Given the description of an element on the screen output the (x, y) to click on. 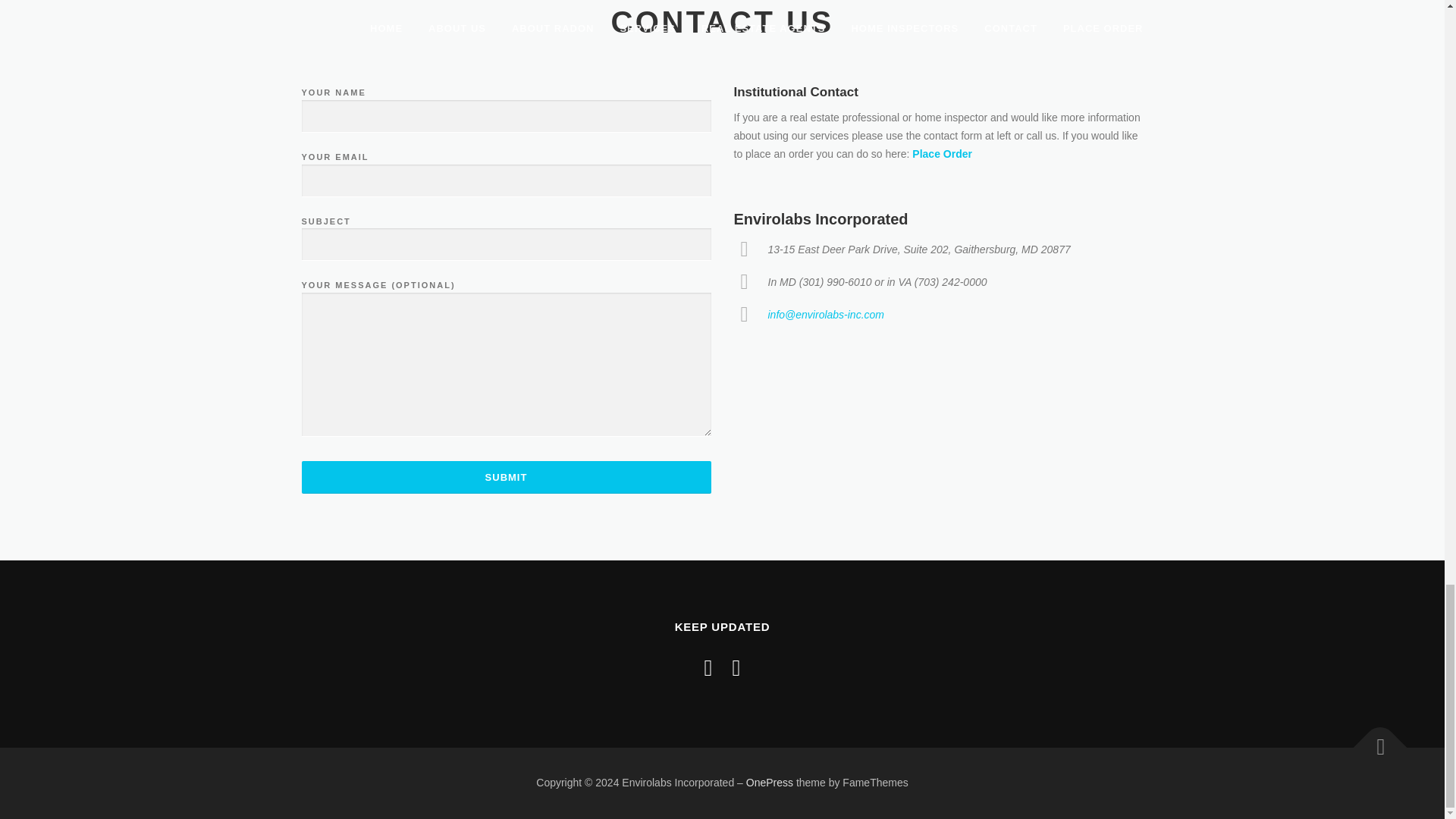
Place Order (942, 153)
Submit (506, 477)
OnePress (769, 782)
Back To Top (1372, 740)
Submit (506, 477)
